Given the description of an element on the screen output the (x, y) to click on. 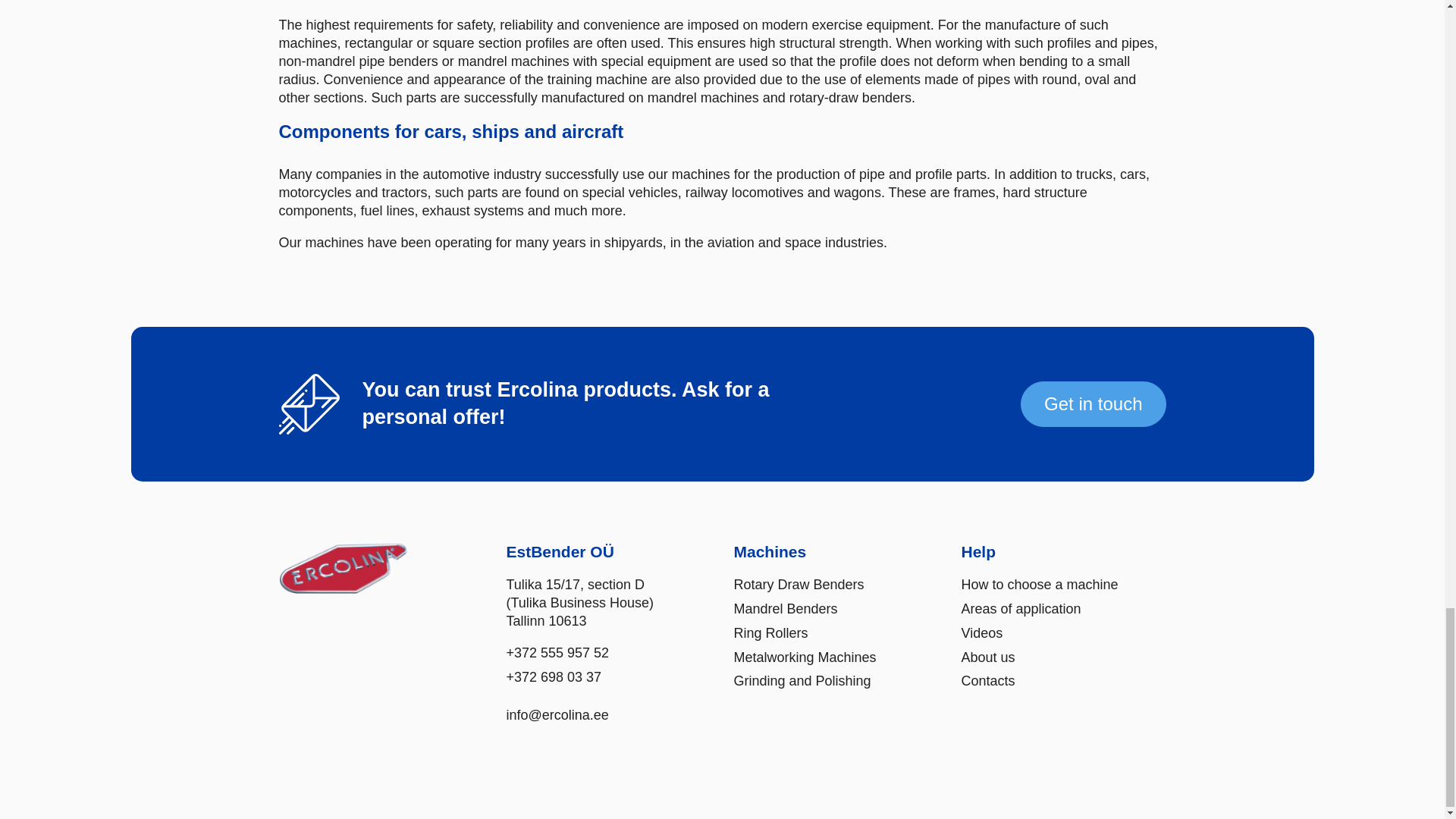
Rotary Draw Benders (798, 585)
Metalworking Machines (804, 657)
Ring Rollers (770, 633)
Get in touch (1093, 404)
Grinding and Polishing (801, 681)
Mandrel Benders (785, 609)
